Given the description of an element on the screen output the (x, y) to click on. 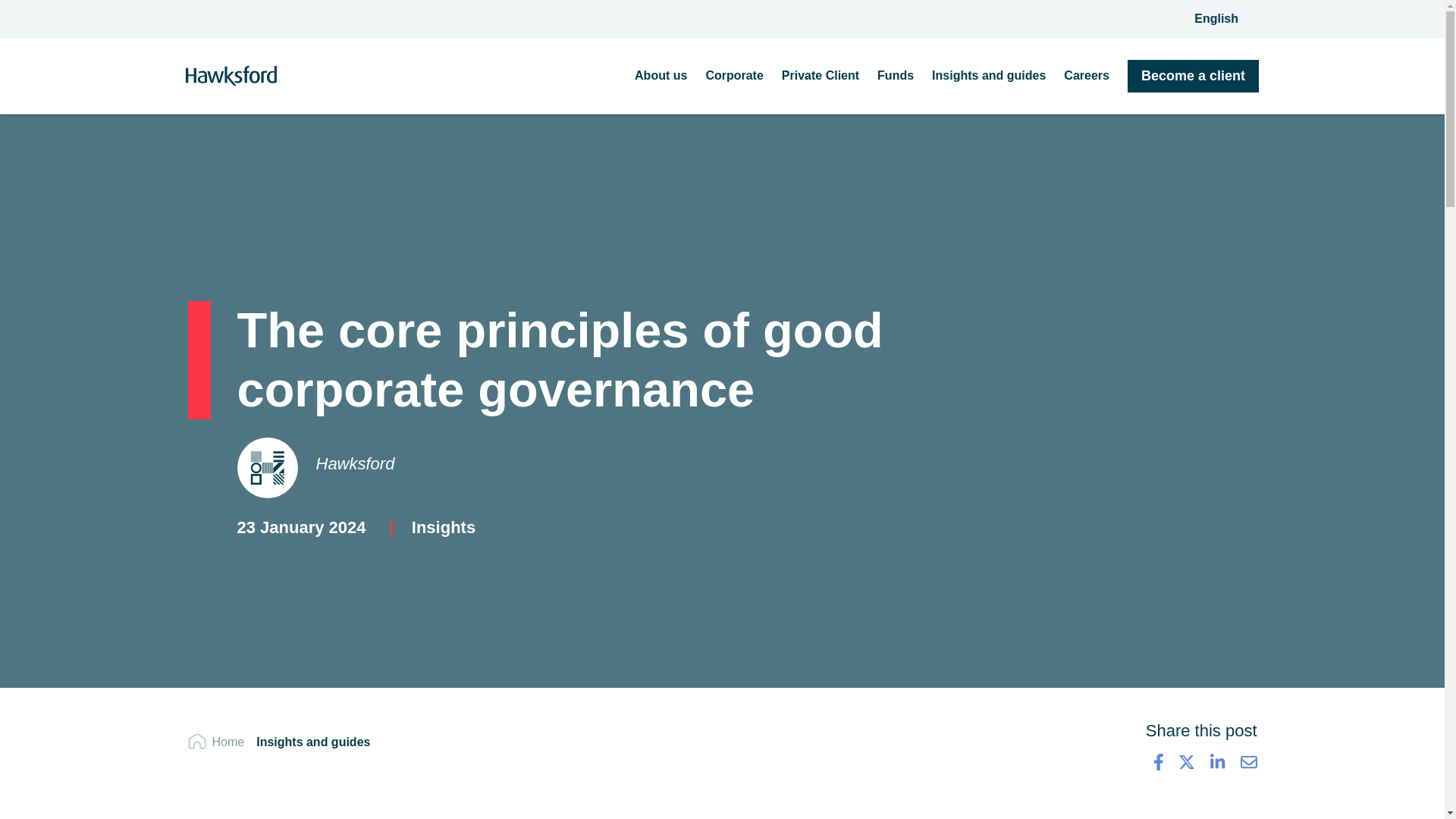
Private Client (820, 74)
Insights and guides (988, 74)
About us (660, 74)
Corporate (733, 74)
Funds (895, 74)
Careers (1086, 74)
Become a client (1192, 74)
